Given the description of an element on the screen output the (x, y) to click on. 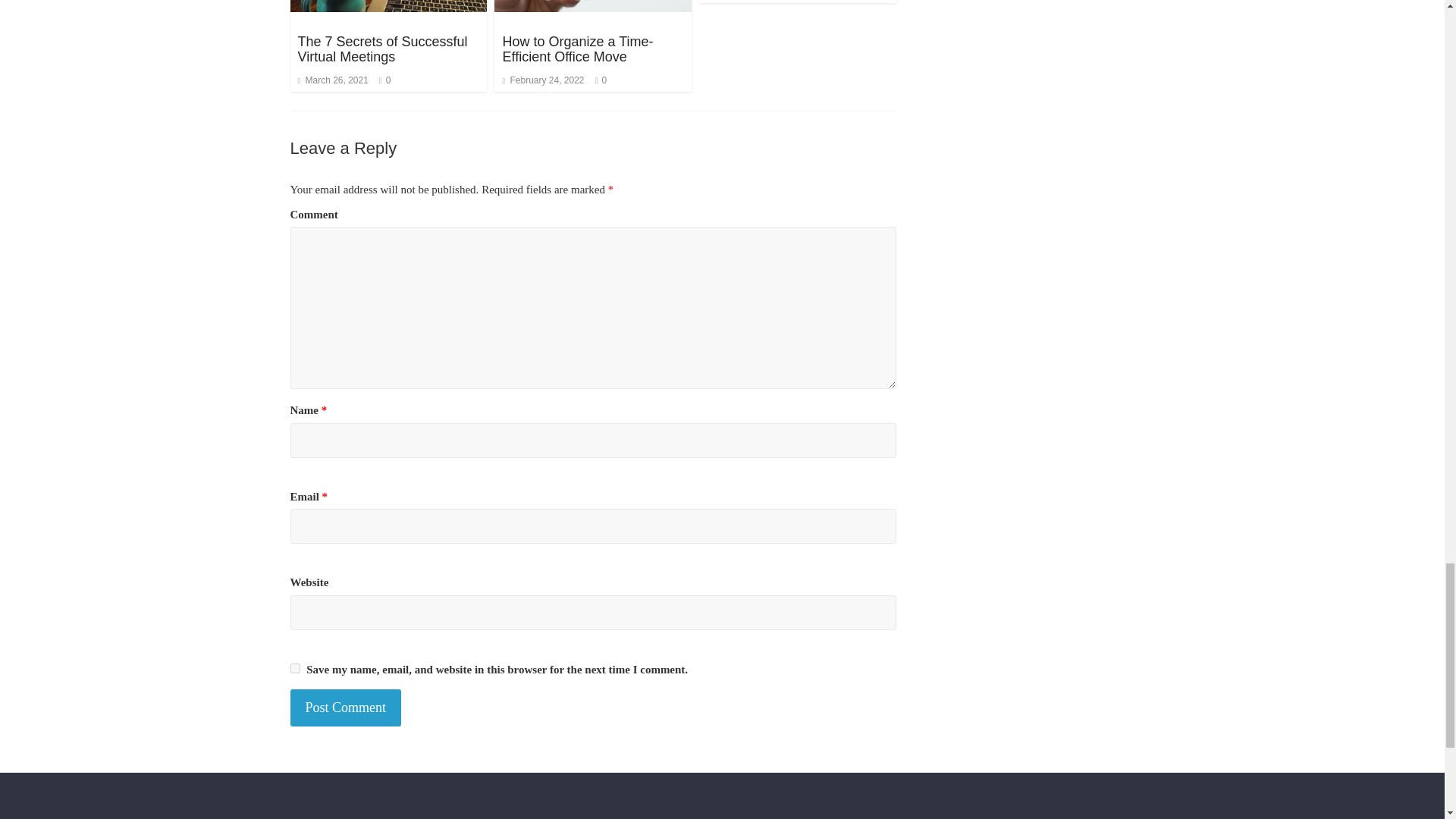
The 7 Secrets of Successful Virtual Meetings (382, 49)
9:53 pm (332, 80)
The 7 Secrets of Successful Virtual Meetings (382, 49)
yes (294, 668)
5:16 pm (542, 80)
Post Comment (345, 707)
March 26, 2021 (332, 80)
